Given the description of an element on the screen output the (x, y) to click on. 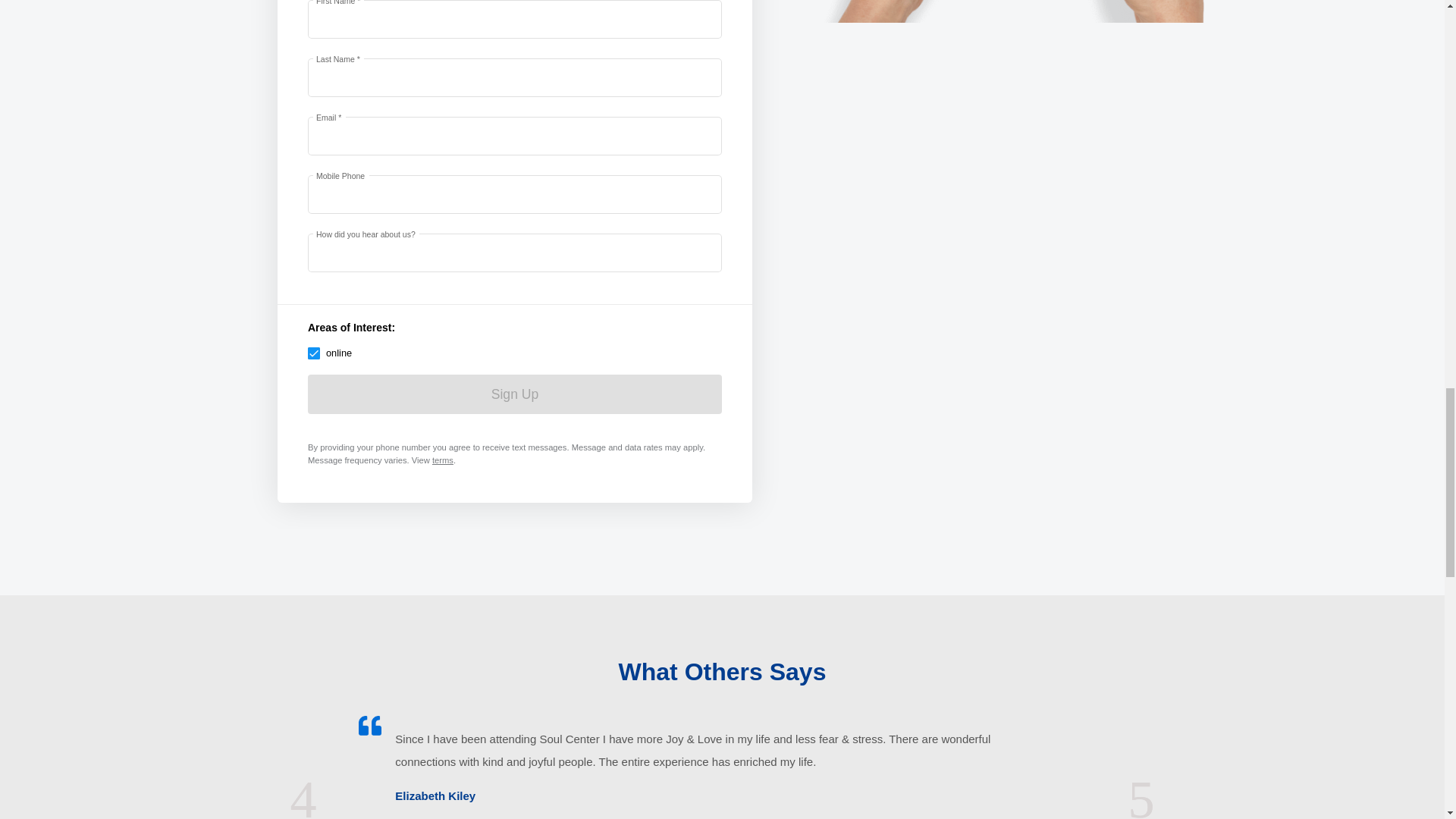
Icon awesome-quote-right (369, 725)
